Given the description of an element on the screen output the (x, y) to click on. 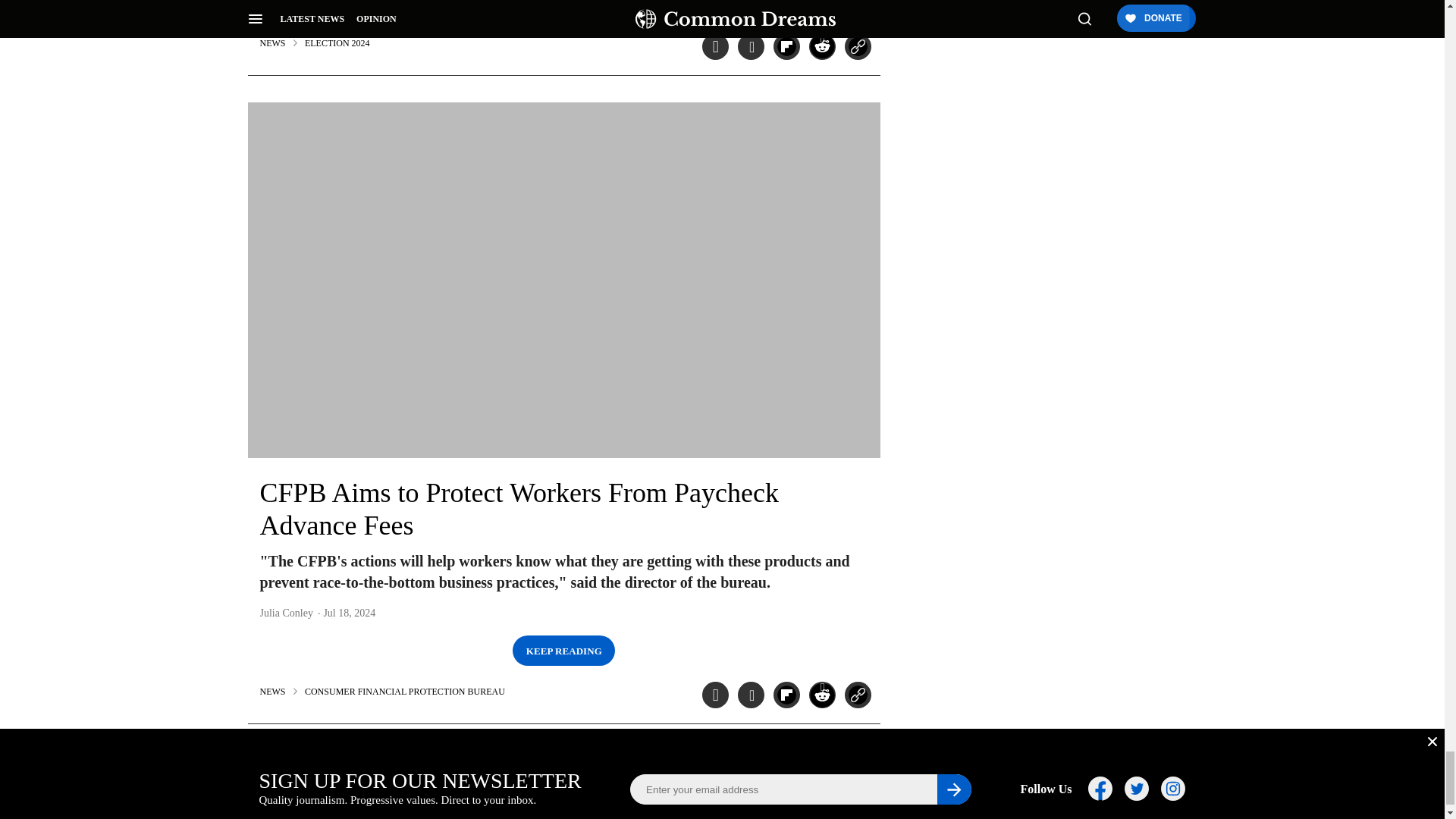
Copy this link to clipboard (857, 46)
Copy this link to clipboard (857, 694)
